Given the description of an element on the screen output the (x, y) to click on. 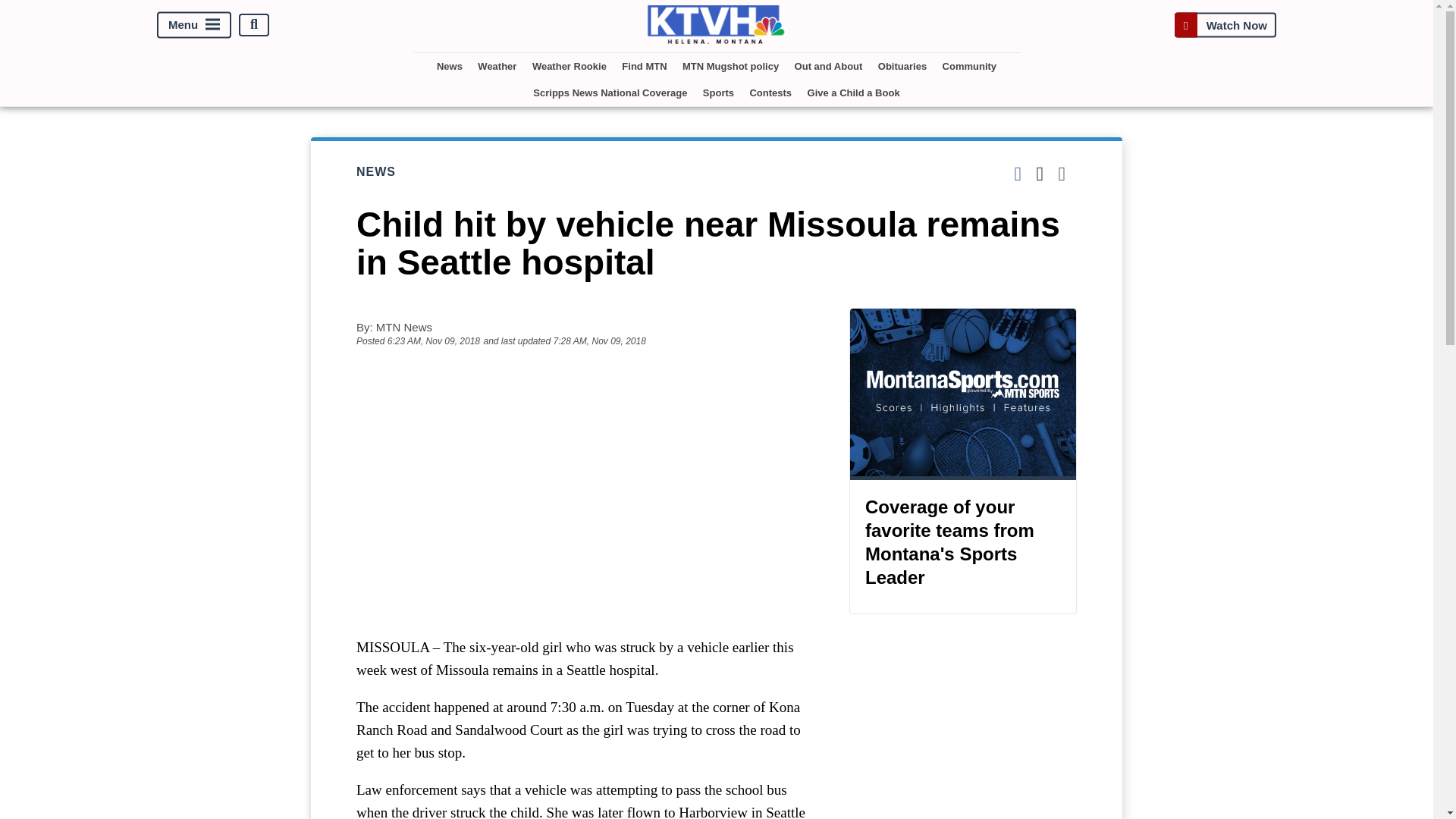
Menu (194, 24)
Watch Now (1224, 24)
YouTube player (587, 491)
